Given the description of an element on the screen output the (x, y) to click on. 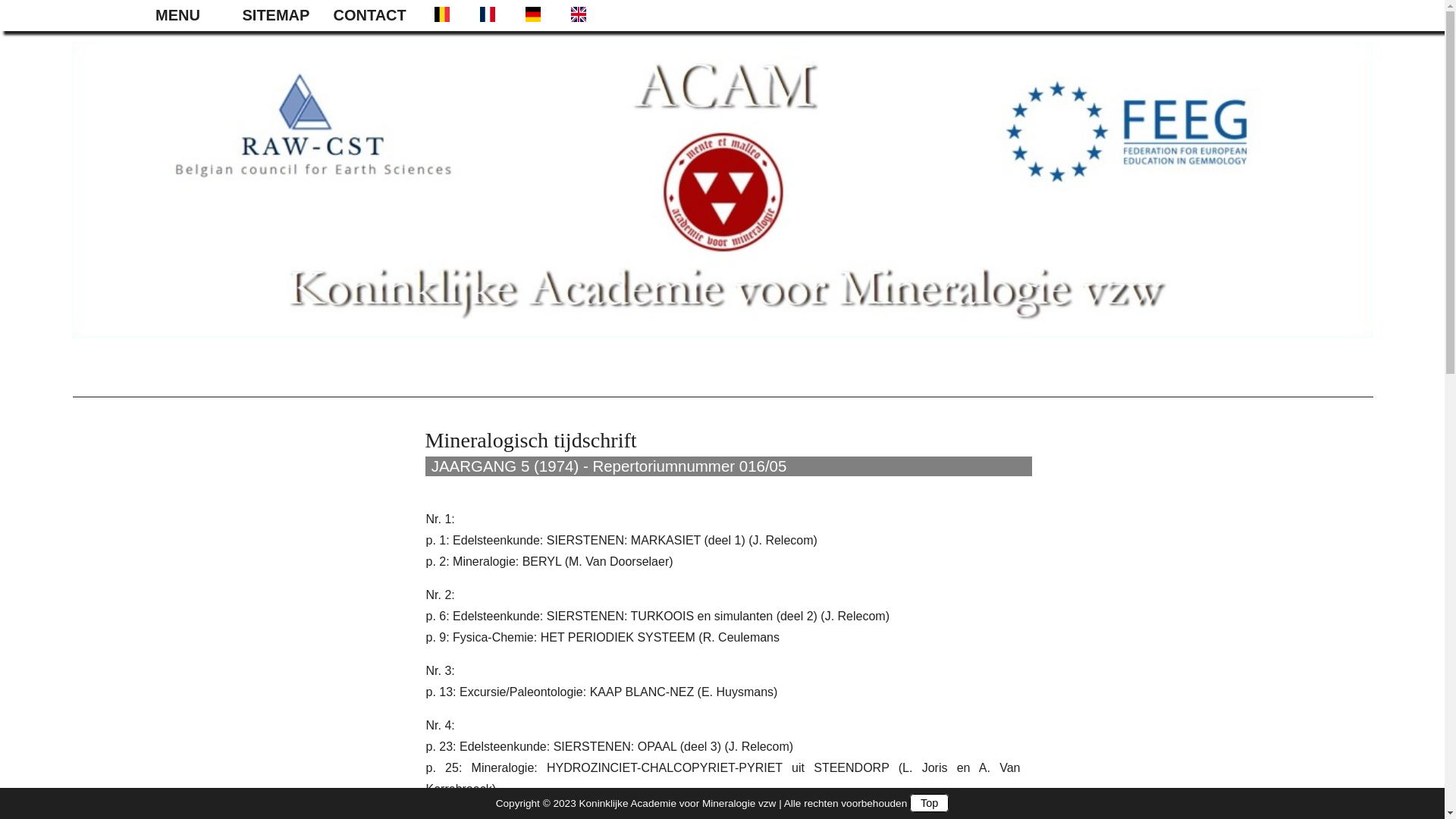
Condensed information in English Element type: hover (576, 14)
CONTACT Element type: text (371, 15)
Kurzes Informazion in Deutsch Element type: hover (531, 14)
SITEMAP Element type: text (280, 15)
MENU Element type: text (189, 15)
Top Element type: text (929, 802)
Top Element type: text (7, 9)
